Given the description of an element on the screen output the (x, y) to click on. 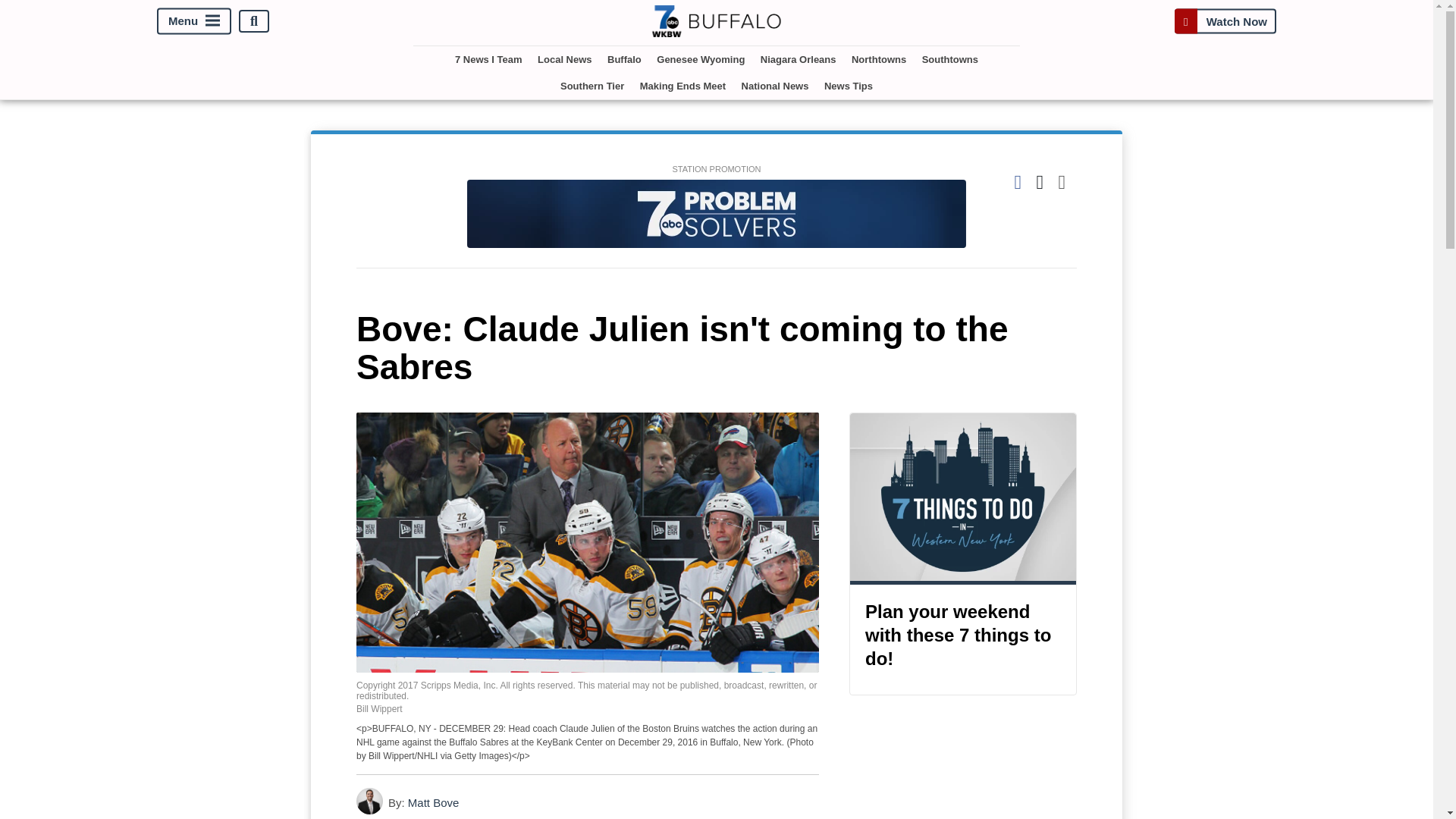
Watch Now (1224, 21)
Menu (194, 21)
